Given the description of an element on the screen output the (x, y) to click on. 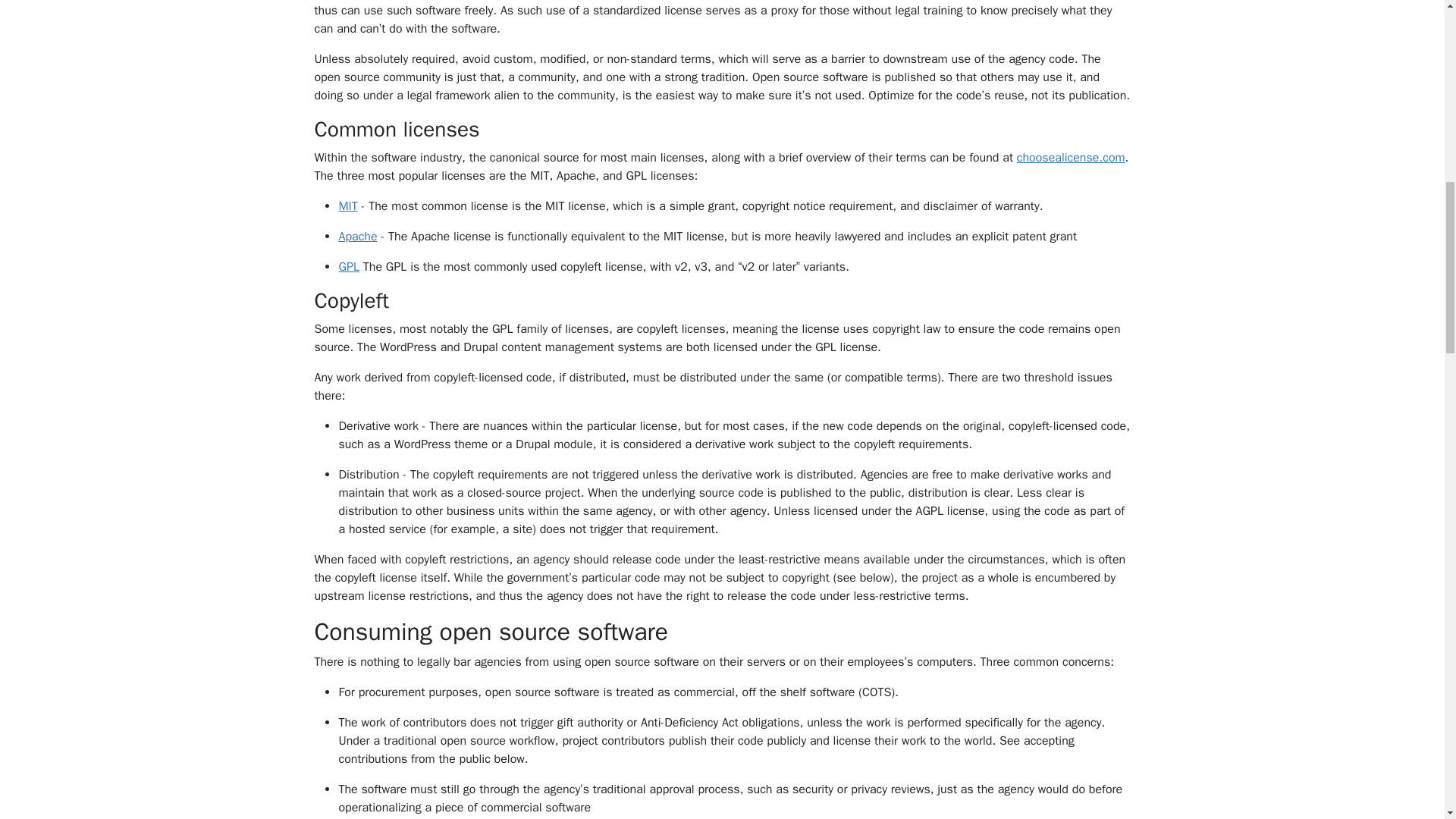
choosealicense.com (1070, 157)
GPL (348, 266)
Apache (357, 236)
MIT (346, 206)
